Given the description of an element on the screen output the (x, y) to click on. 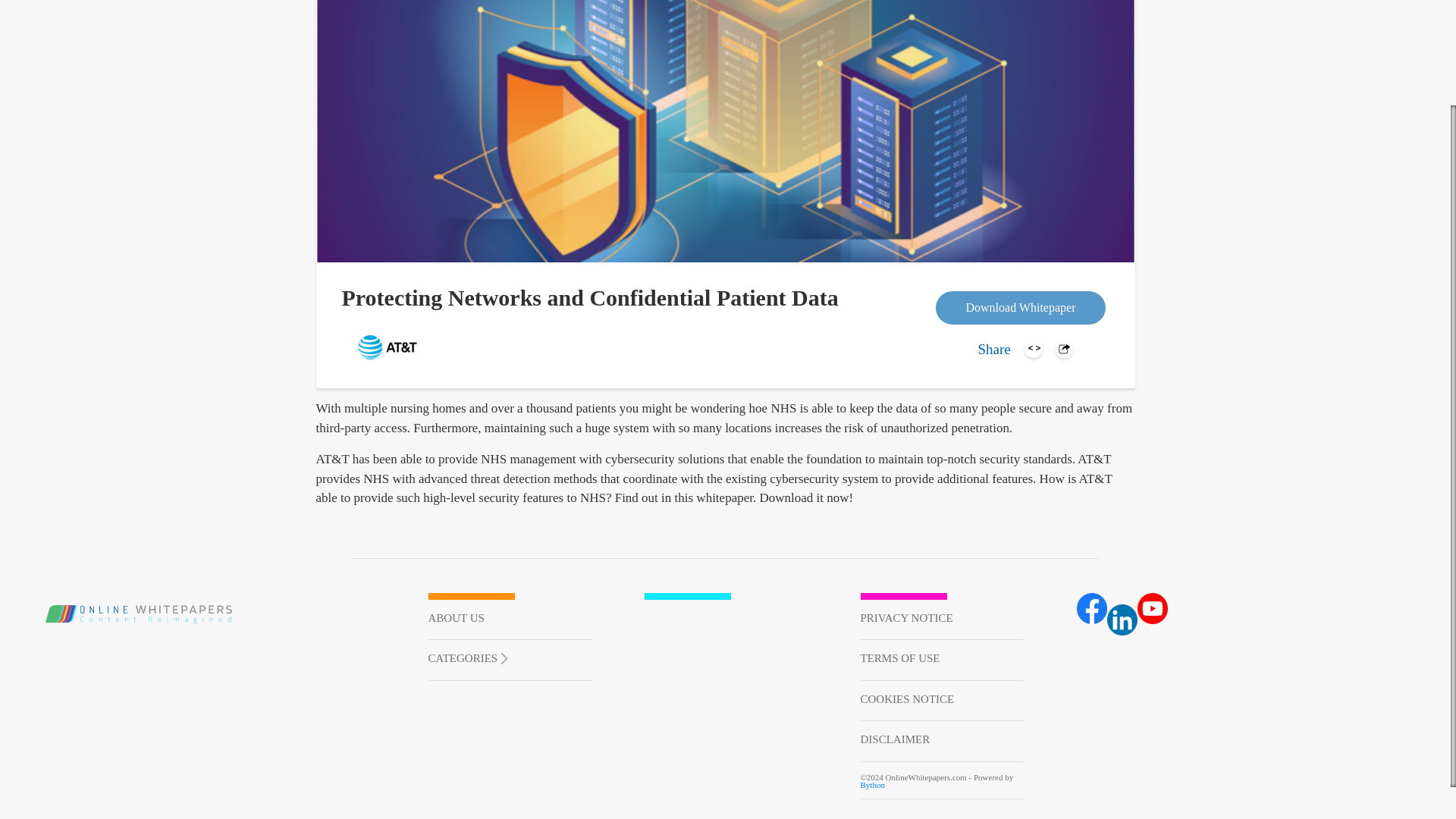
ABOUT US (509, 619)
TERMS OF USE (941, 659)
CATEGORIES (467, 657)
PRIVACY NOTICE (941, 619)
Download Whitepaper (1020, 307)
